Given the description of an element on the screen output the (x, y) to click on. 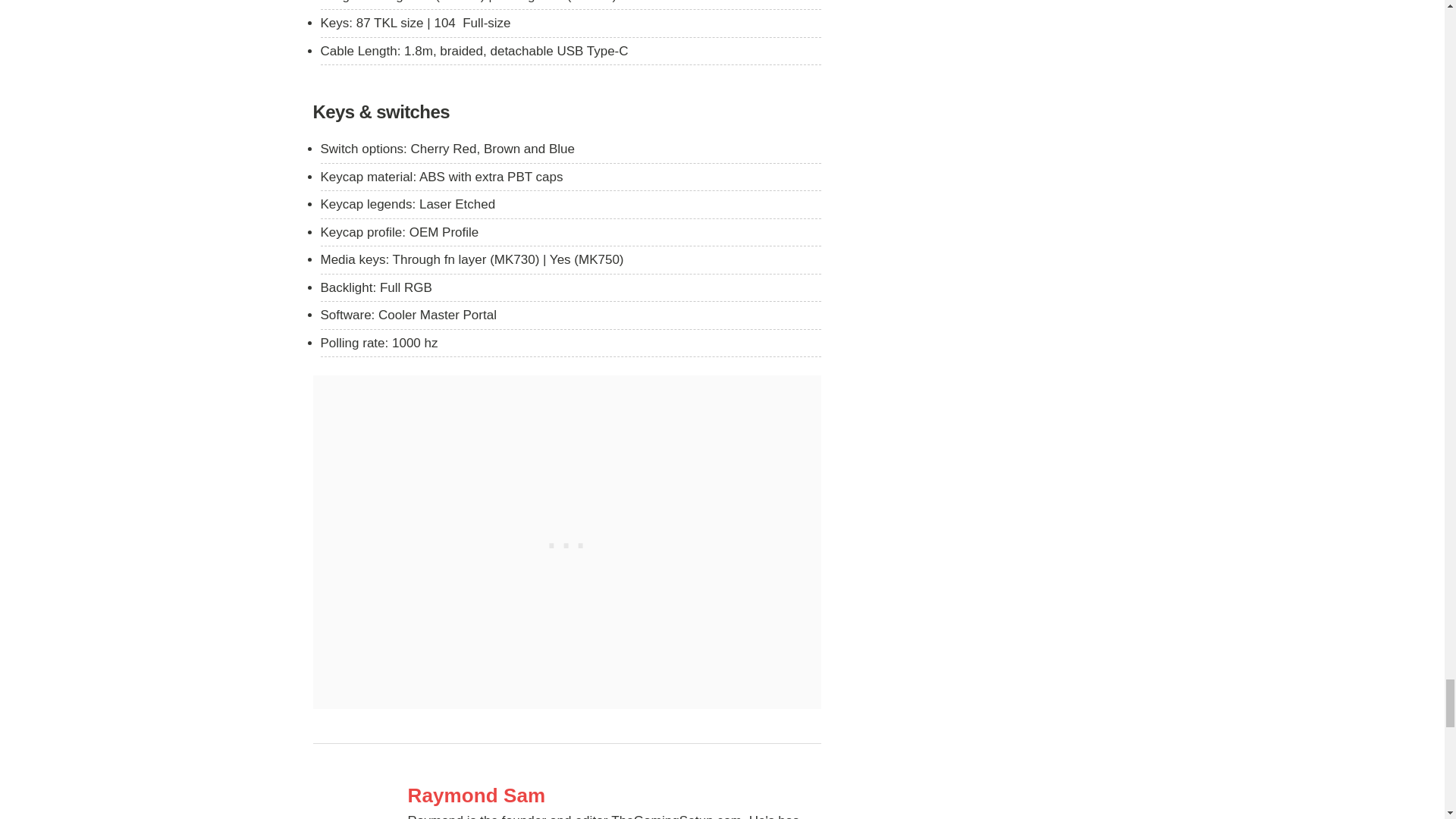
Raymond Sam (614, 795)
